Given the description of an element on the screen output the (x, y) to click on. 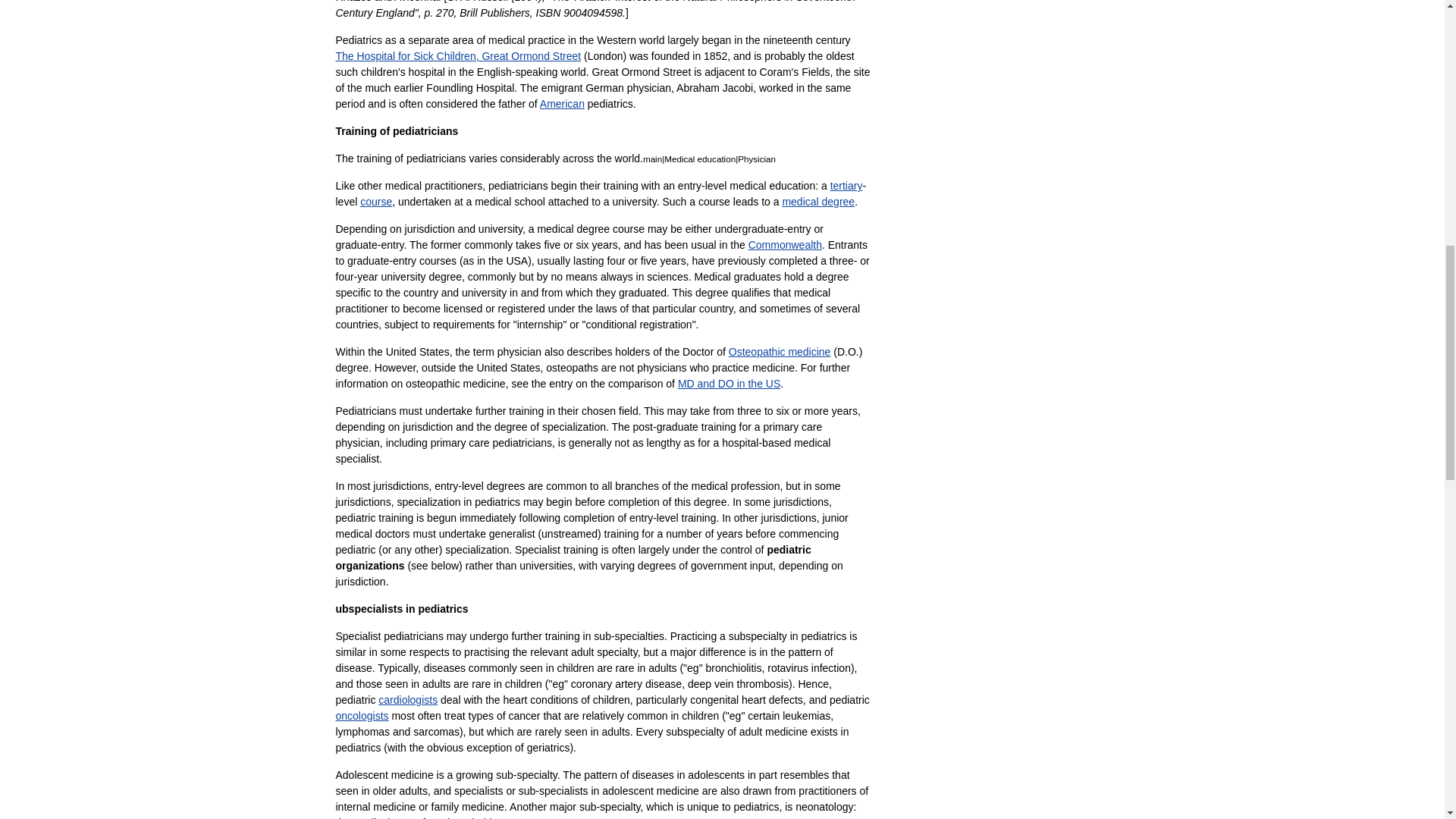
Osteopathic medicine (780, 351)
tertiary (846, 185)
oncologists (361, 715)
course (375, 201)
Commonwealth (785, 244)
American (562, 103)
The Hospital for Sick Children, Great Ormond Street (457, 55)
medical degree (817, 201)
MD and DO in the US (729, 383)
cardiologists (408, 699)
